Given the description of an element on the screen output the (x, y) to click on. 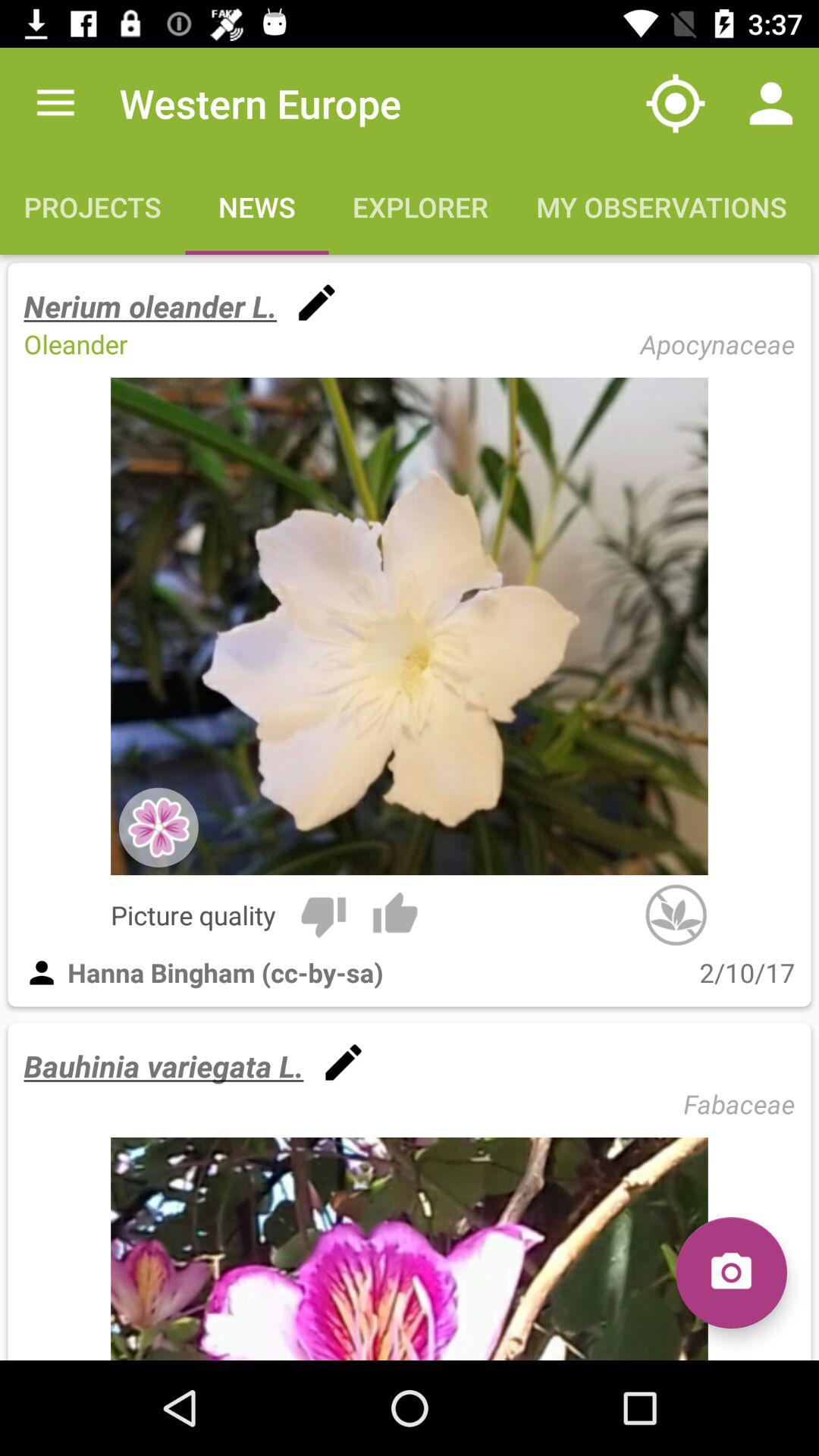
launch the item above the hanna bingham cc item (323, 914)
